Given the description of an element on the screen output the (x, y) to click on. 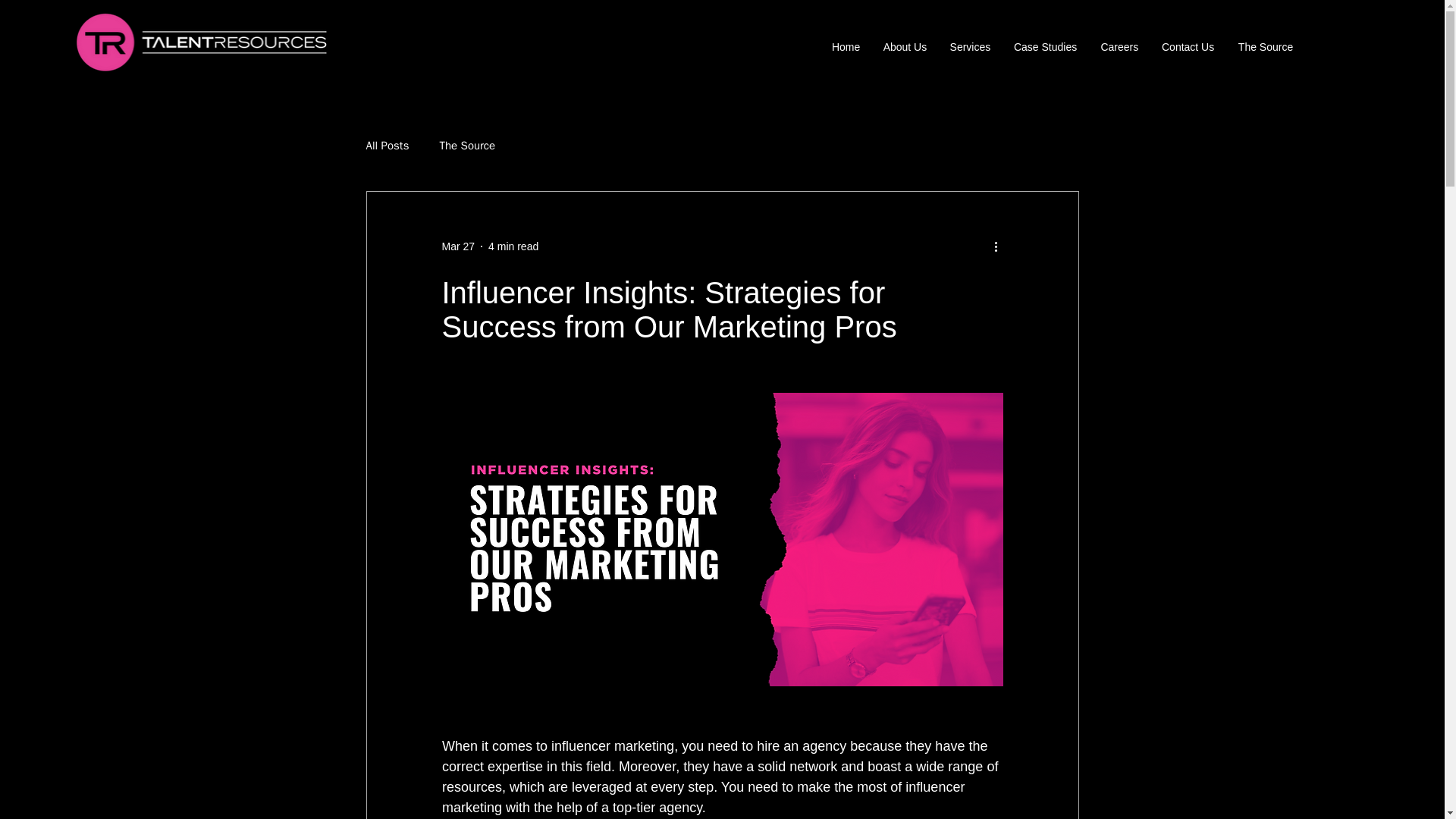
Services (969, 46)
Case Studies (1044, 46)
Home (844, 46)
Contact Us (1187, 46)
The Source (467, 145)
The Source (1264, 46)
Careers (1118, 46)
All Posts (387, 145)
About Us (903, 46)
Mar 27 (457, 246)
4 min read (512, 246)
